Given the description of an element on the screen output the (x, y) to click on. 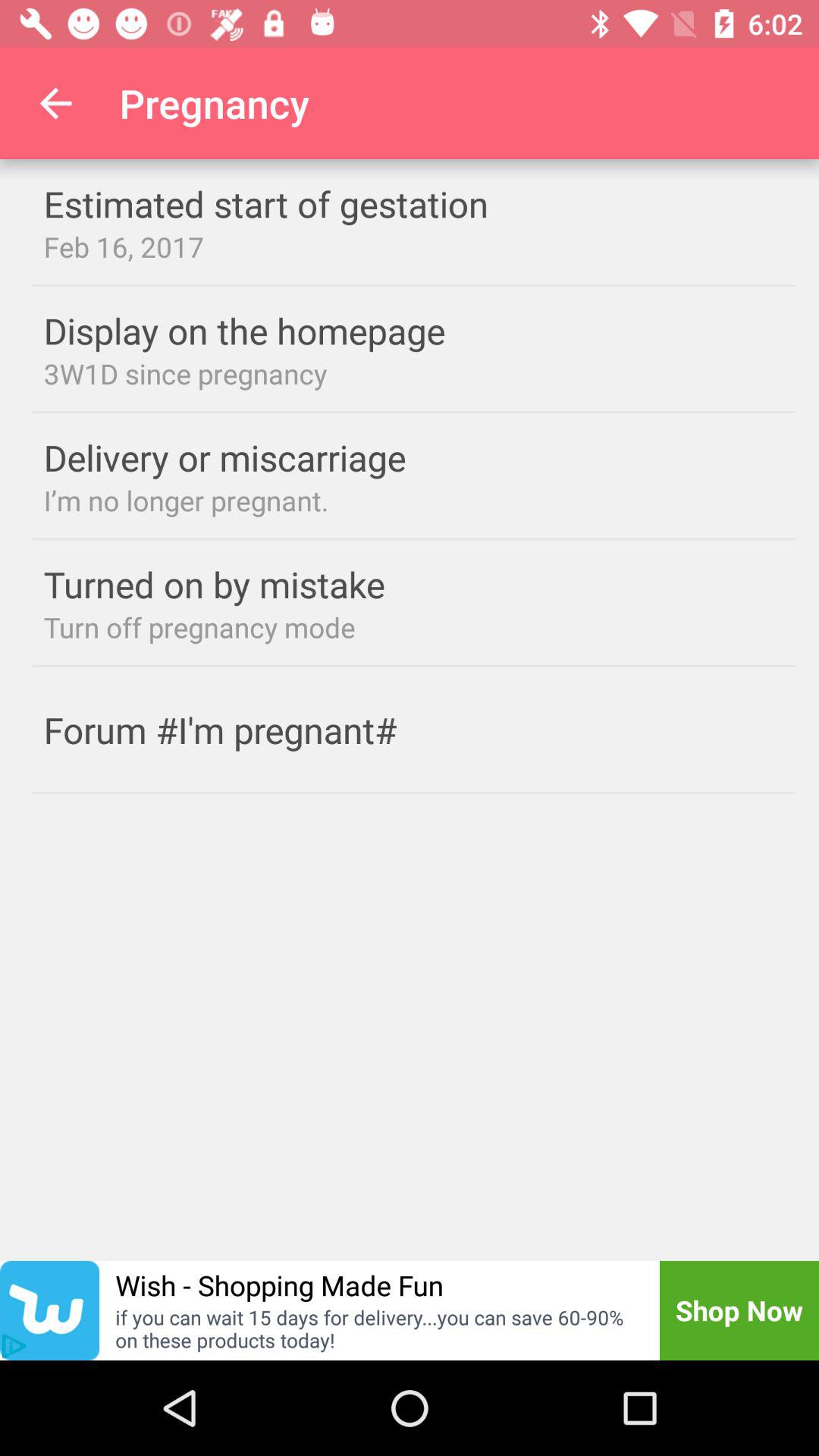
scroll until shop now (739, 1310)
